Given the description of an element on the screen output the (x, y) to click on. 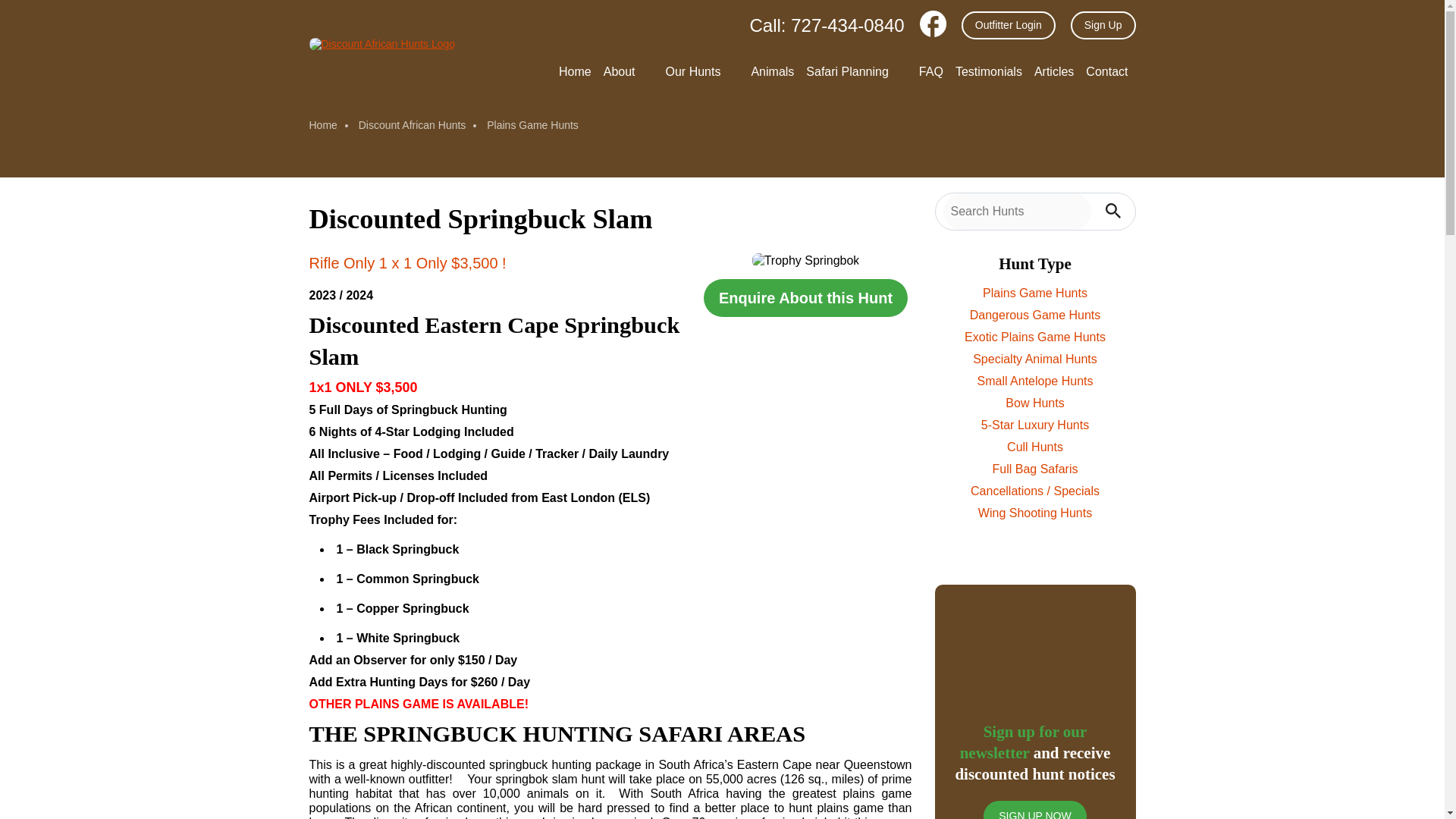
Call: 727-434-0840 (817, 24)
Animals (772, 71)
About (628, 72)
Outfitter Login (1007, 24)
Home (575, 71)
Enquire About this Hunt (805, 297)
Trophy Springbok (806, 260)
Our Hunts (702, 72)
Sign Up (1102, 24)
Safari Planning (856, 72)
